Given the description of an element on the screen output the (x, y) to click on. 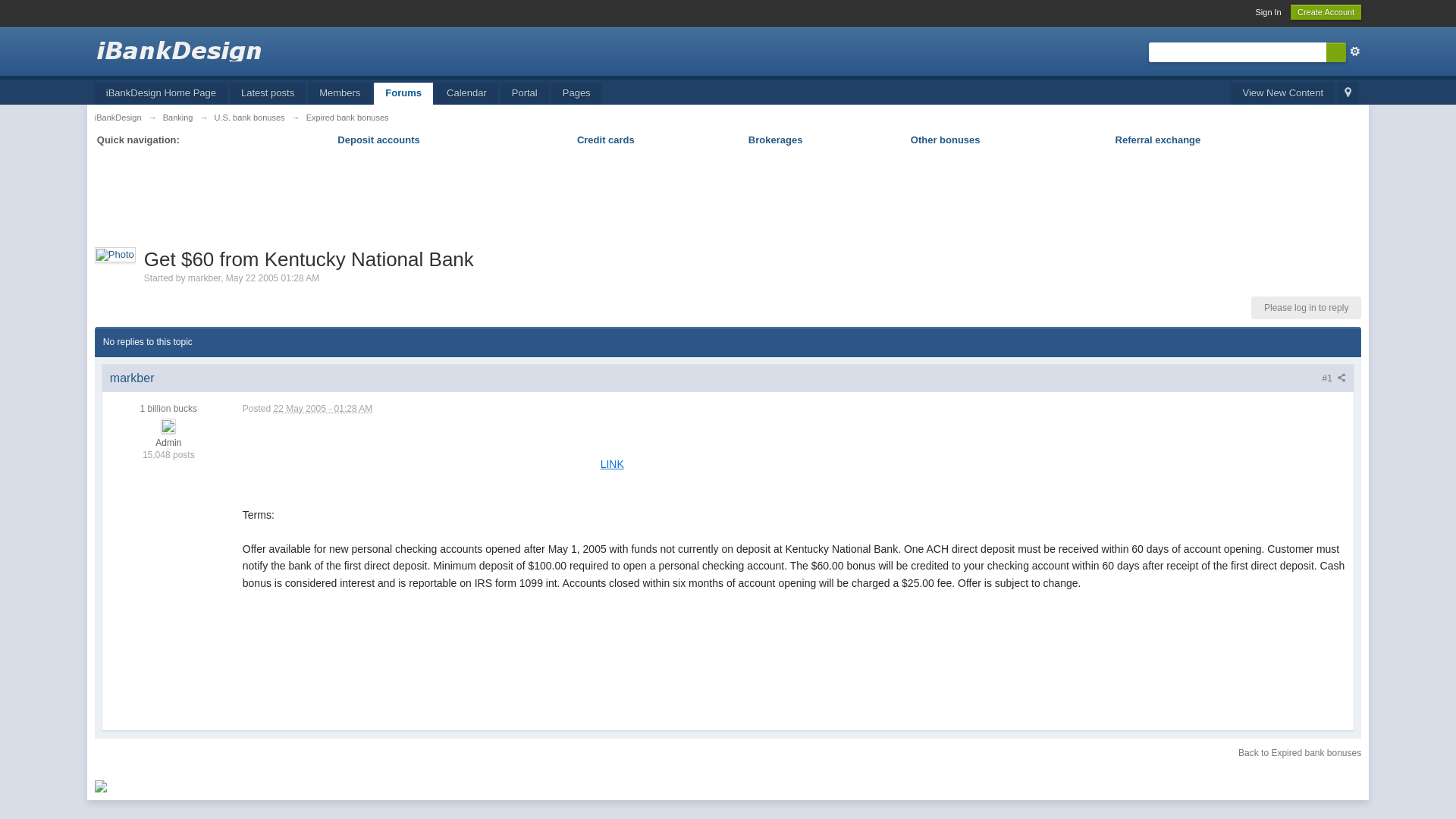
Advanced (1355, 51)
Deposit accounts (378, 139)
Search (1335, 52)
Latest posts (267, 93)
iBankDesign Home Page (160, 93)
LINK (611, 463)
Members (339, 93)
Create Account (1325, 11)
Forums (403, 93)
Credit cards (605, 139)
Other bonuses (945, 139)
U.S. bank bonuses (249, 117)
Portal (524, 93)
Brokerages (775, 139)
markber (204, 277)
